Given the description of an element on the screen output the (x, y) to click on. 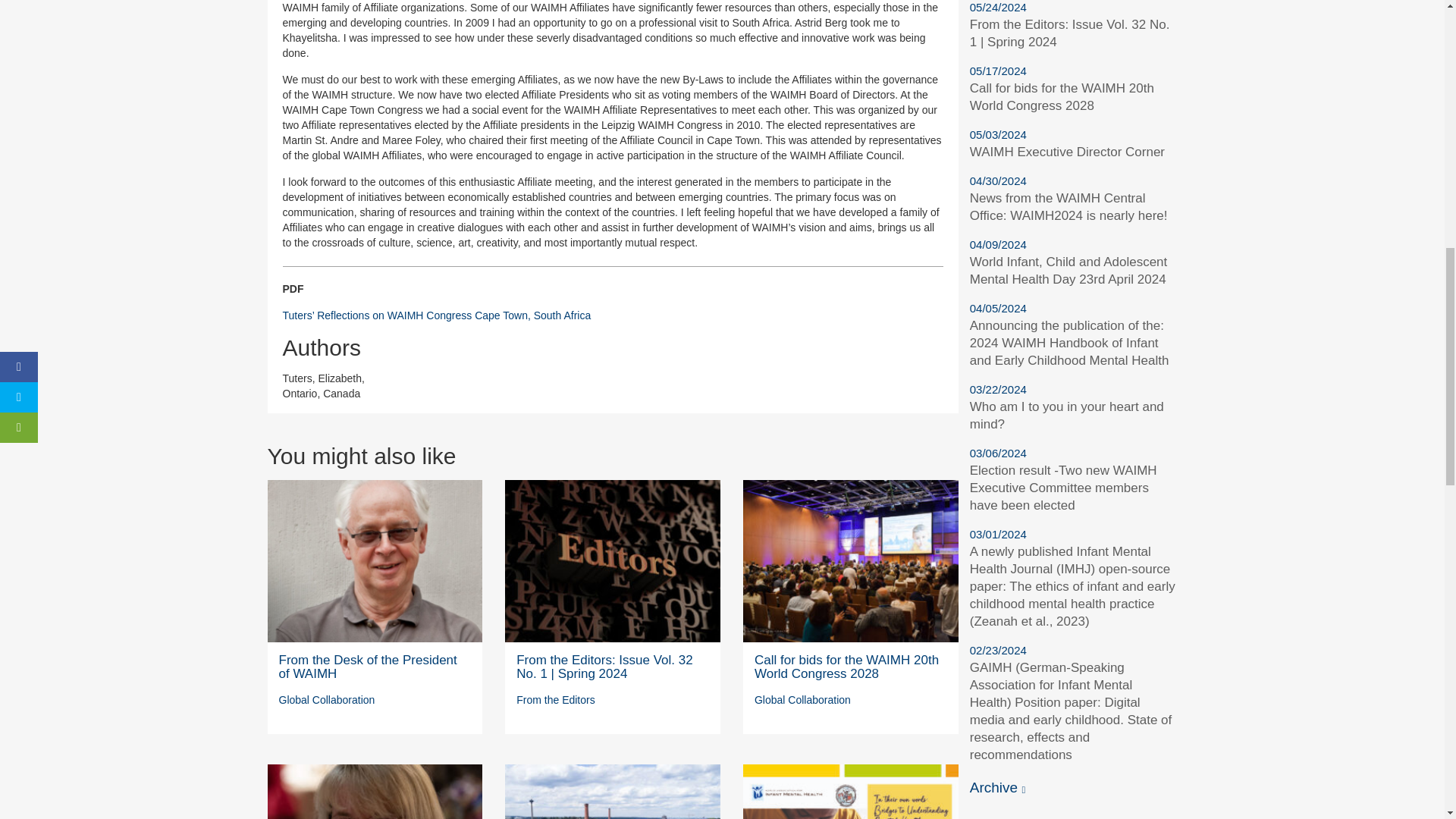
View all posts in From the Editors (555, 699)
From the Desk of the President of WAIMH (368, 666)
Call for bids for the WAIMH 20th World Congress 2028 (846, 666)
From the Editors (555, 699)
Global Collaboration (802, 699)
Global Collaboration (327, 699)
View all posts in Global Collaboration (802, 699)
View all posts in Global Collaboration (327, 699)
